Given the description of an element on the screen output the (x, y) to click on. 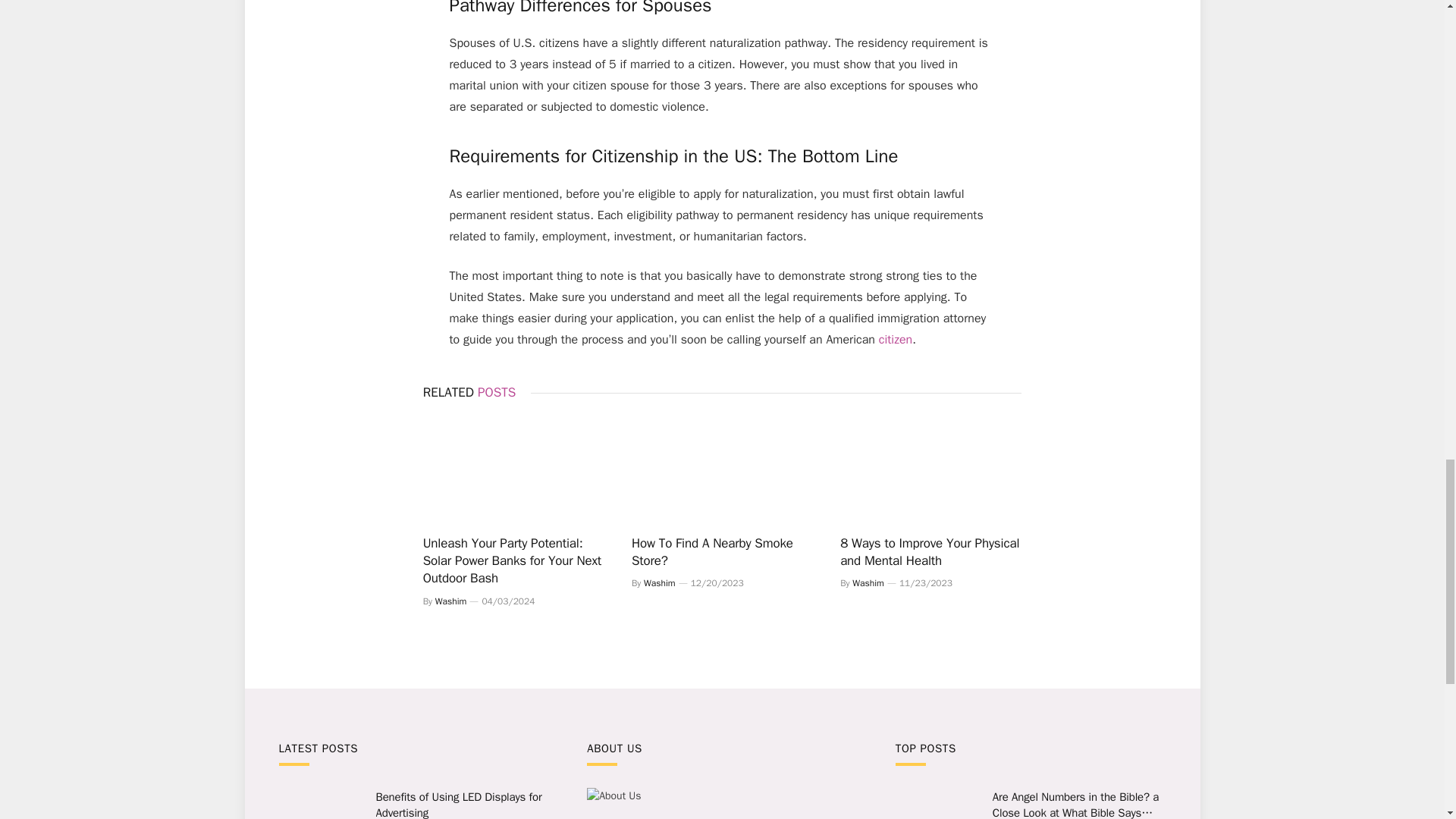
Posts by Washim (451, 601)
